Given the description of an element on the screen output the (x, y) to click on. 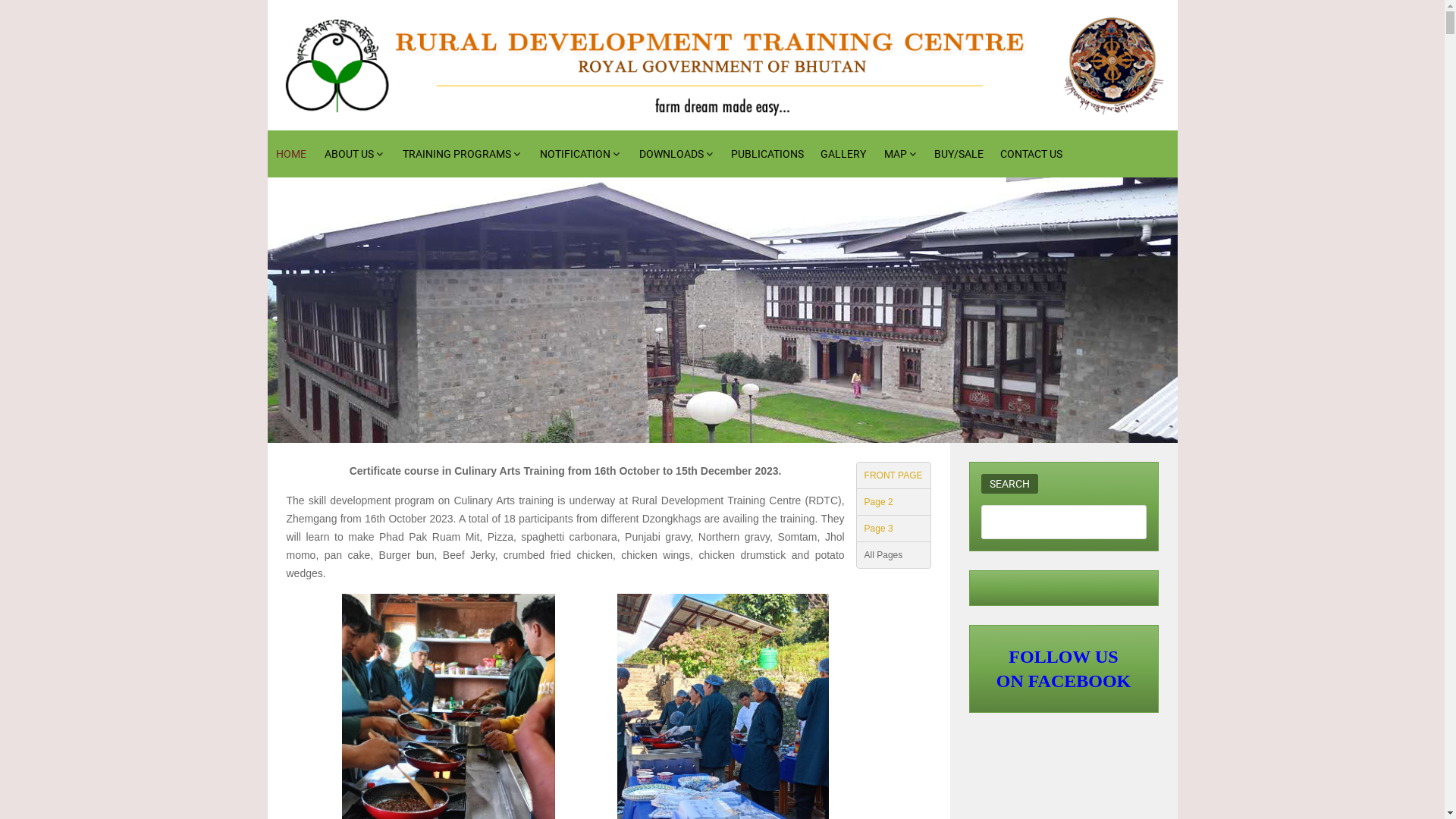
TRAINING PROGRAMS Element type: text (460, 153)
image Element type: hover (721, 309)
MAP Element type: text (900, 153)
CONTACT US Element type: text (1030, 153)
GALLERY Element type: text (842, 153)
Page 2 Element type: text (893, 501)
ABOUT US Element type: text (353, 153)
FRONT PAGE Element type: text (893, 475)
All Pages Element type: text (893, 554)
HOME Element type: text (290, 153)
FOLLOW US ON FACEBOOK Element type: text (1063, 668)
BUY/SALE Element type: text (958, 153)
Page 3 Element type: text (893, 528)
NOTIFICATION Element type: text (579, 153)
DOWNLOADS Element type: text (675, 153)
PUBLICATIONS Element type: text (767, 153)
